Given the description of an element on the screen output the (x, y) to click on. 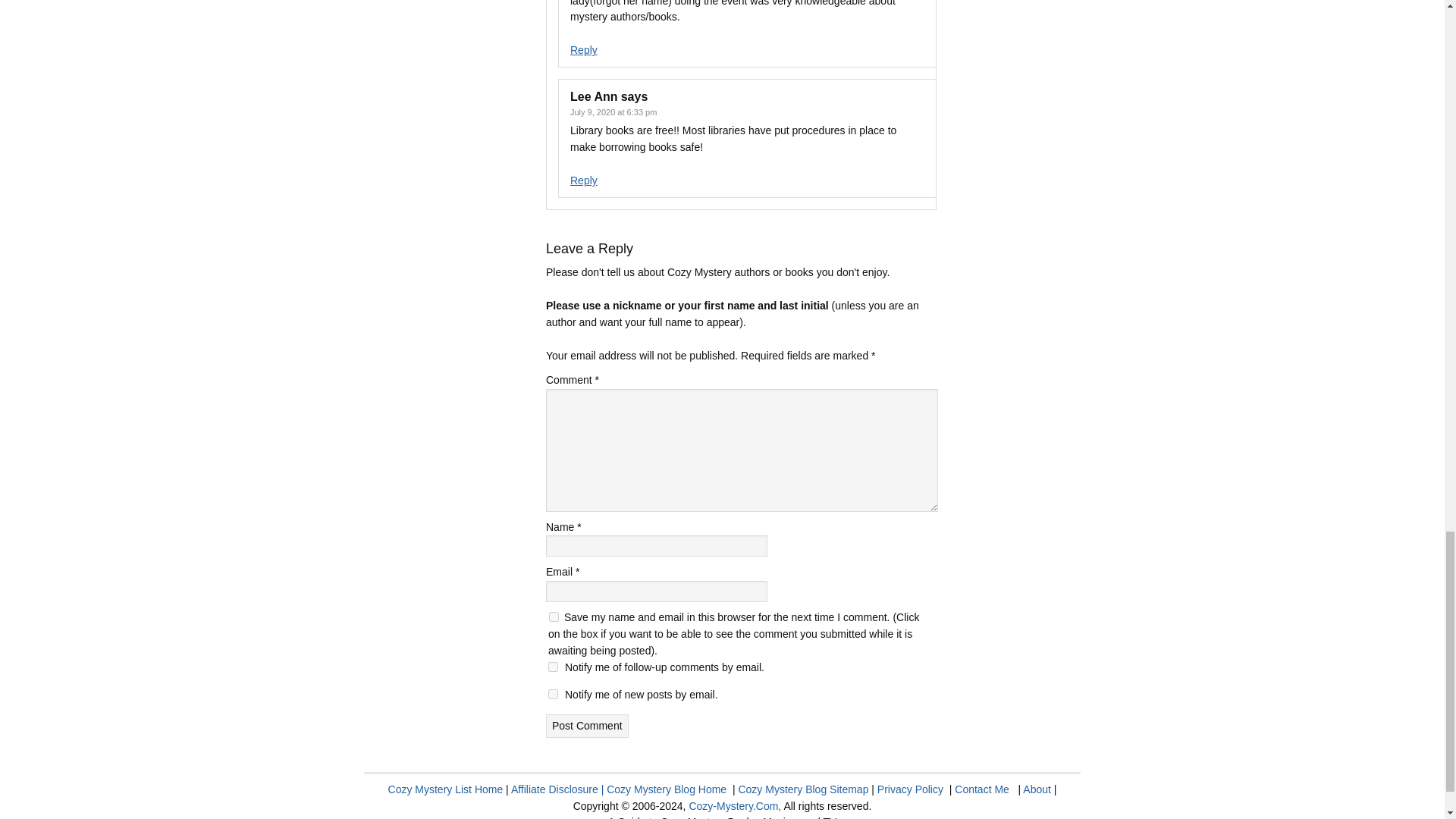
subscribe (552, 666)
July 9, 2020 at 6:33 pm (613, 112)
subscribe (552, 694)
yes (553, 616)
Reply (583, 180)
Post Comment (587, 725)
Post Comment (587, 725)
Reply (583, 50)
